Given the description of an element on the screen output the (x, y) to click on. 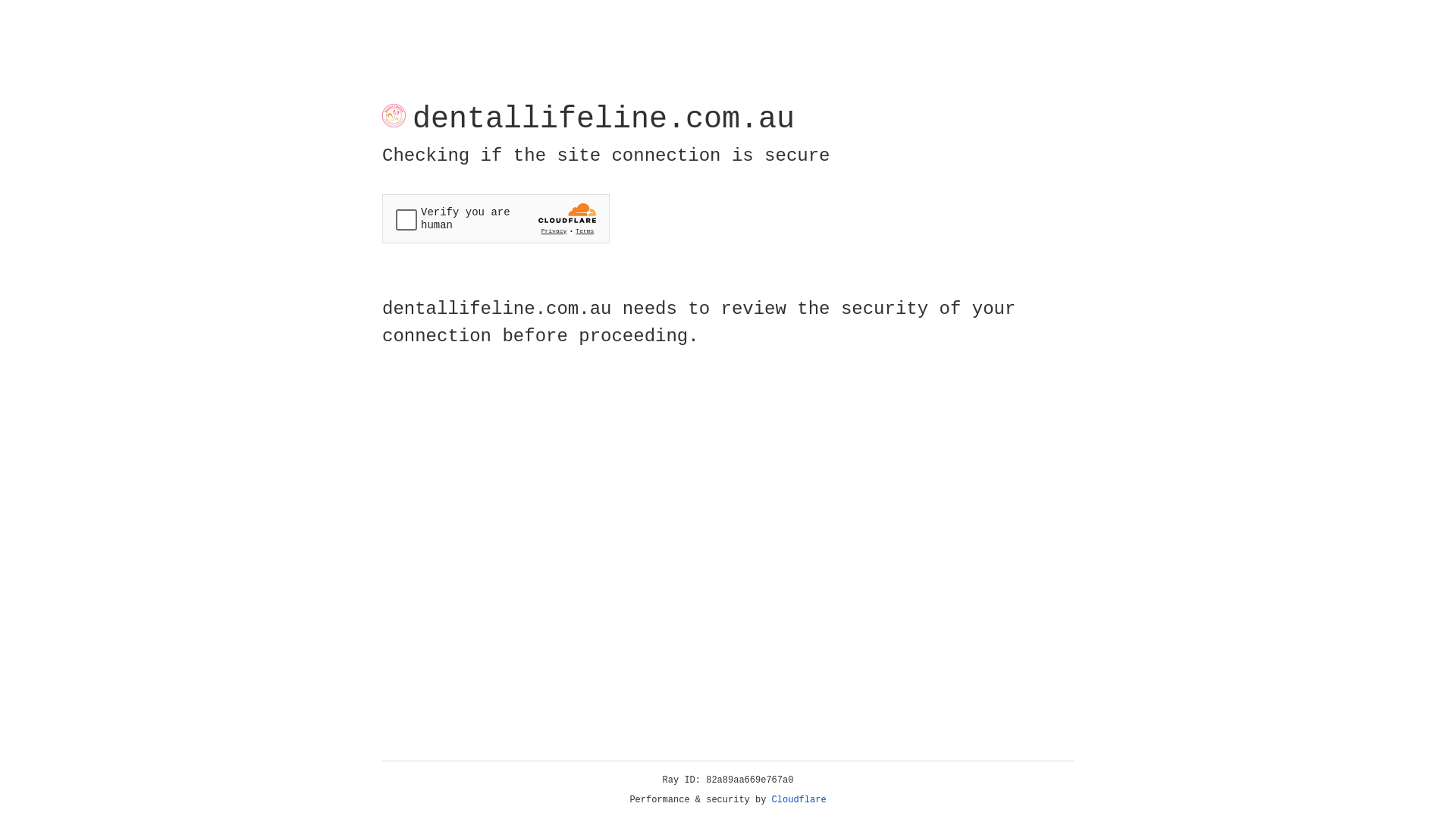
Widget containing a Cloudflare security challenge Element type: hover (495, 218)
Cloudflare Element type: text (798, 799)
